Given the description of an element on the screen output the (x, y) to click on. 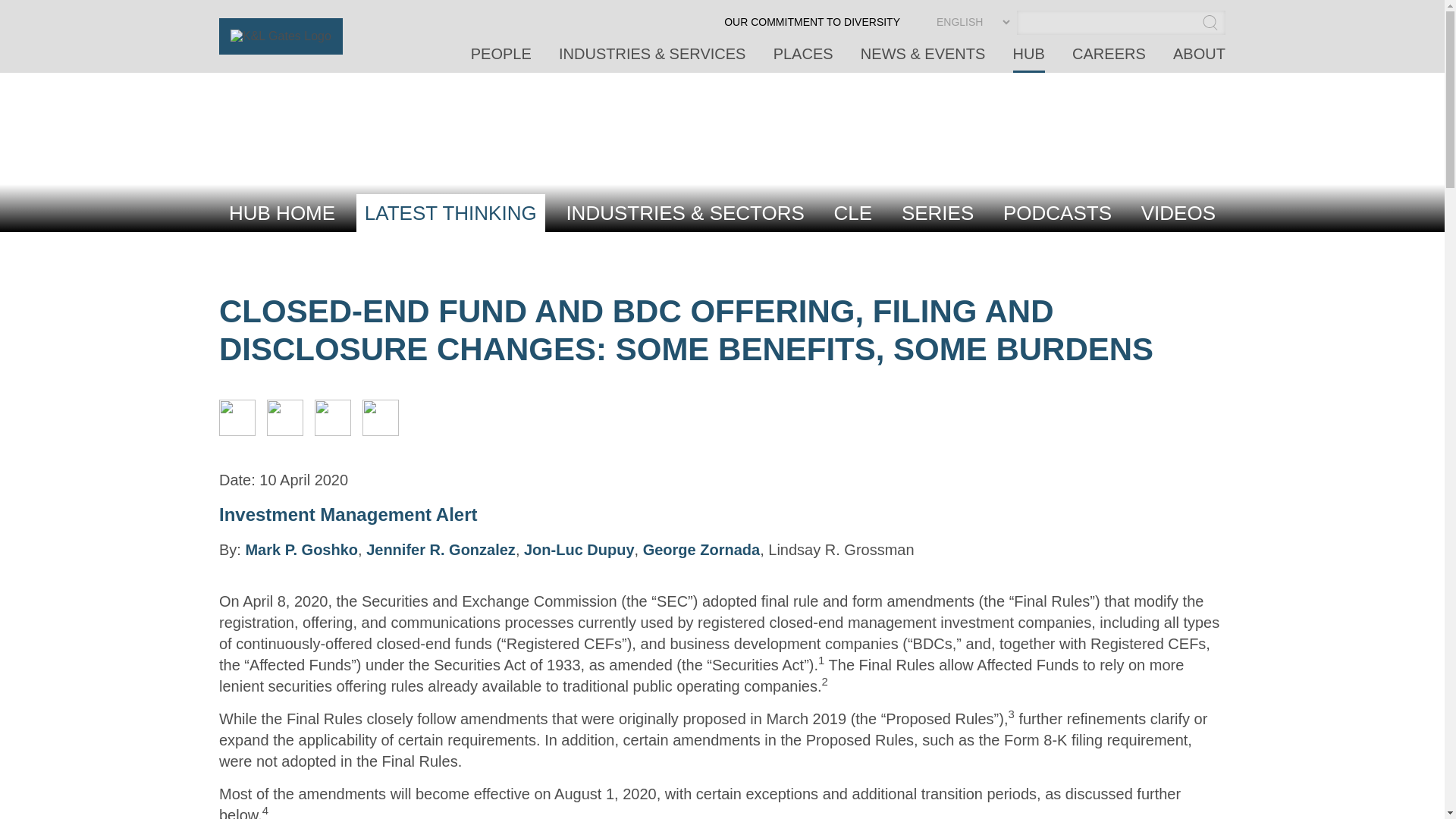
CAREERS (1108, 58)
PEOPLE (500, 58)
PODCASTS (1056, 212)
CLE (852, 212)
Download PDF Version (380, 431)
PLACES (802, 58)
Mark P. Goshko (301, 549)
Share via Twitter (284, 431)
SERIES (937, 212)
Share via Facebook (332, 431)
